Given the description of an element on the screen output the (x, y) to click on. 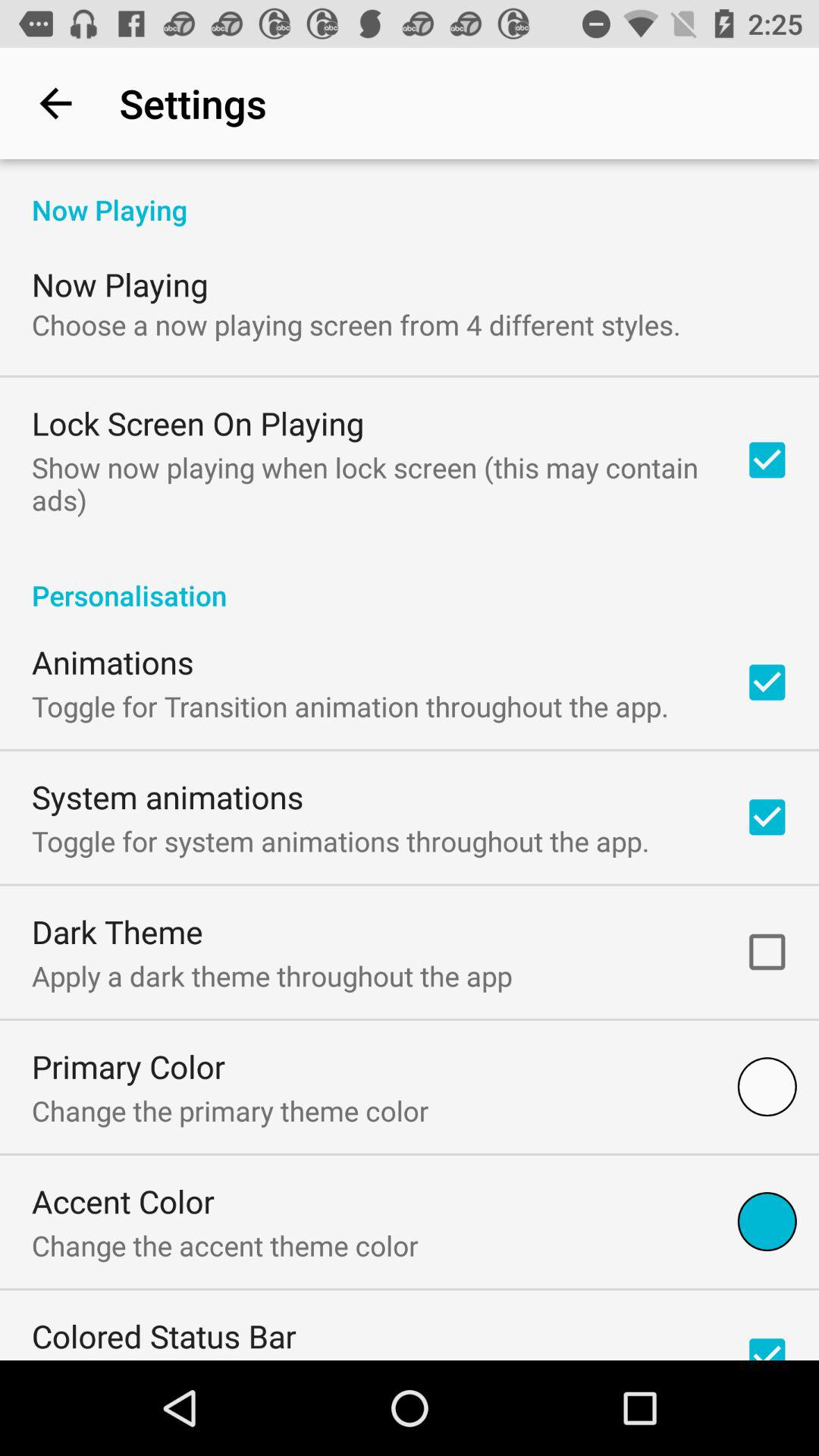
tap the item next to settings app (55, 103)
